Given the description of an element on the screen output the (x, y) to click on. 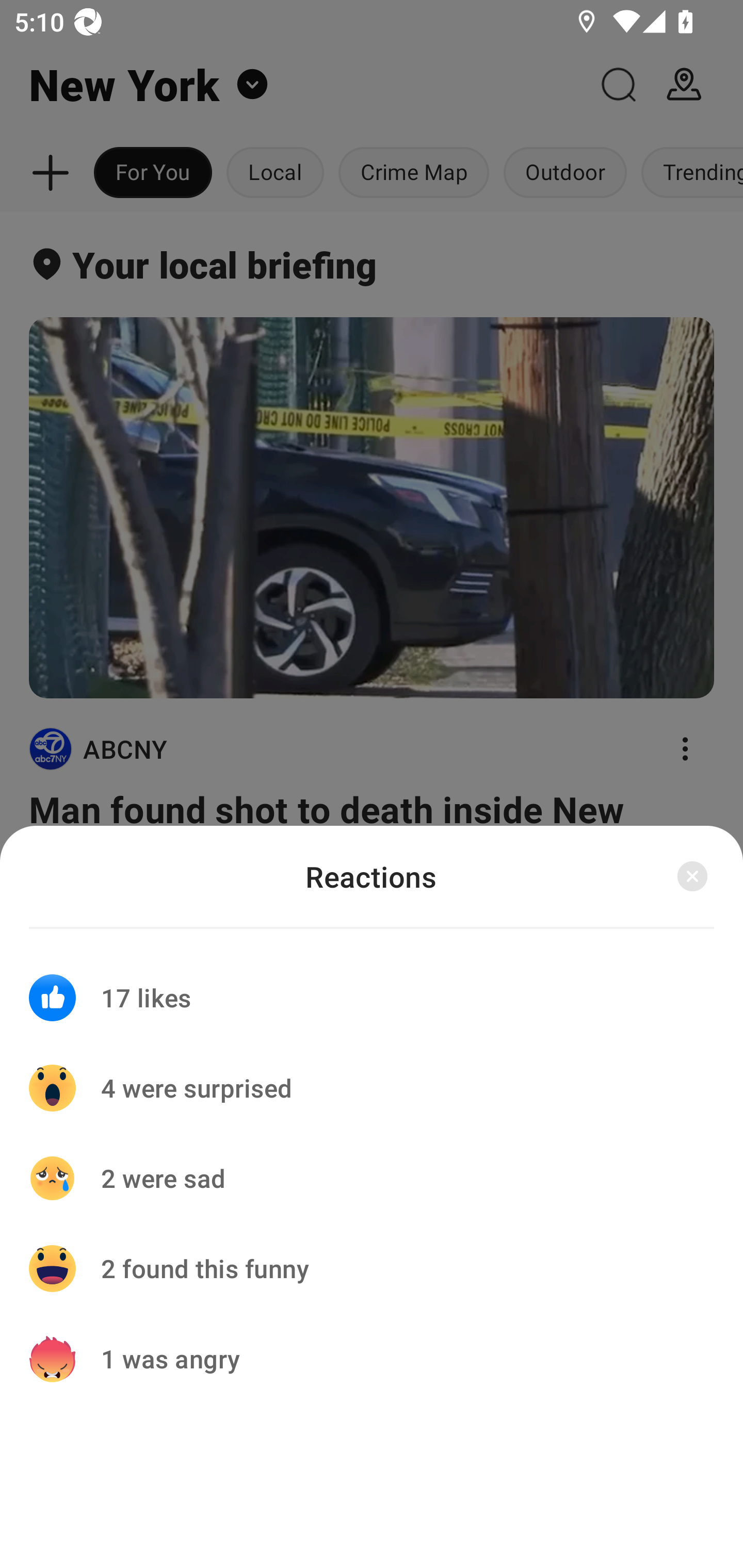
17 likes (371, 985)
4 were surprised (371, 1087)
2 were sad (371, 1178)
2 found this funny (371, 1268)
1 was angry (371, 1358)
